Given the description of an element on the screen output the (x, y) to click on. 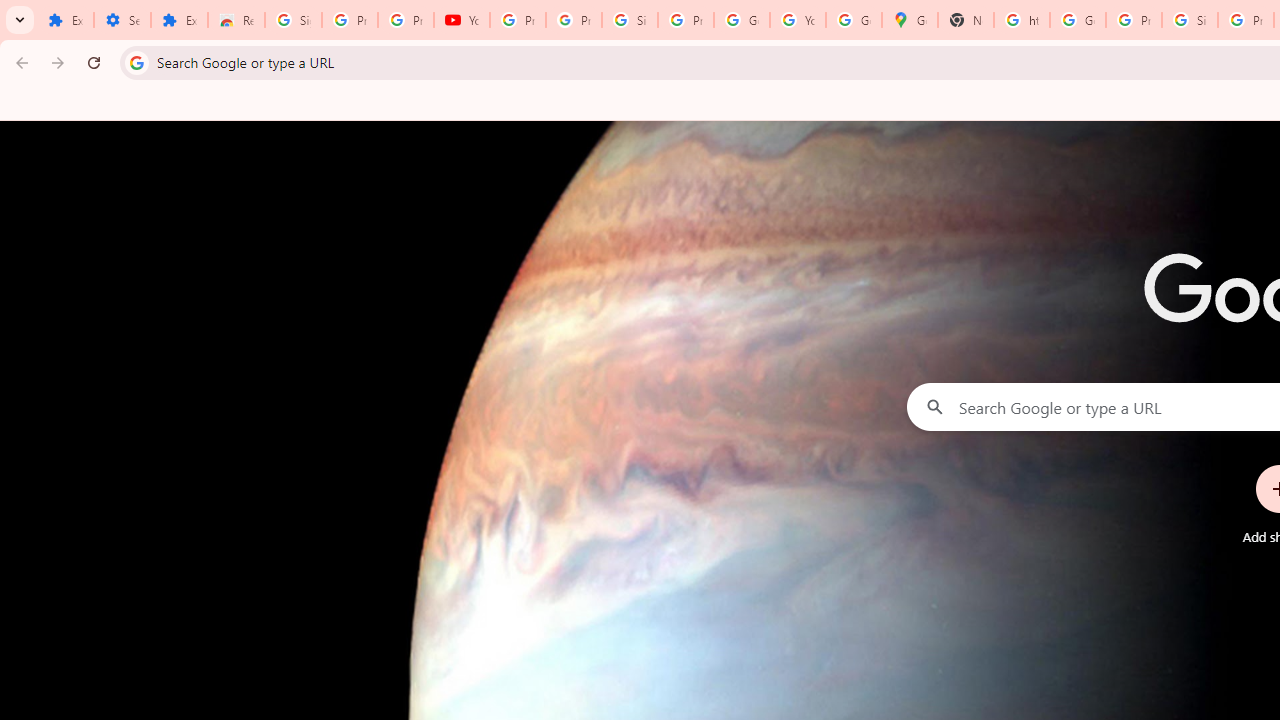
Settings (122, 20)
Sign in - Google Accounts (629, 20)
Sign in - Google Accounts (293, 20)
Extensions (179, 20)
Reviews: Helix Fruit Jump Arcade Game (235, 20)
Extensions (65, 20)
https://scholar.google.com/ (1021, 20)
Google Maps (909, 20)
